Given the description of an element on the screen output the (x, y) to click on. 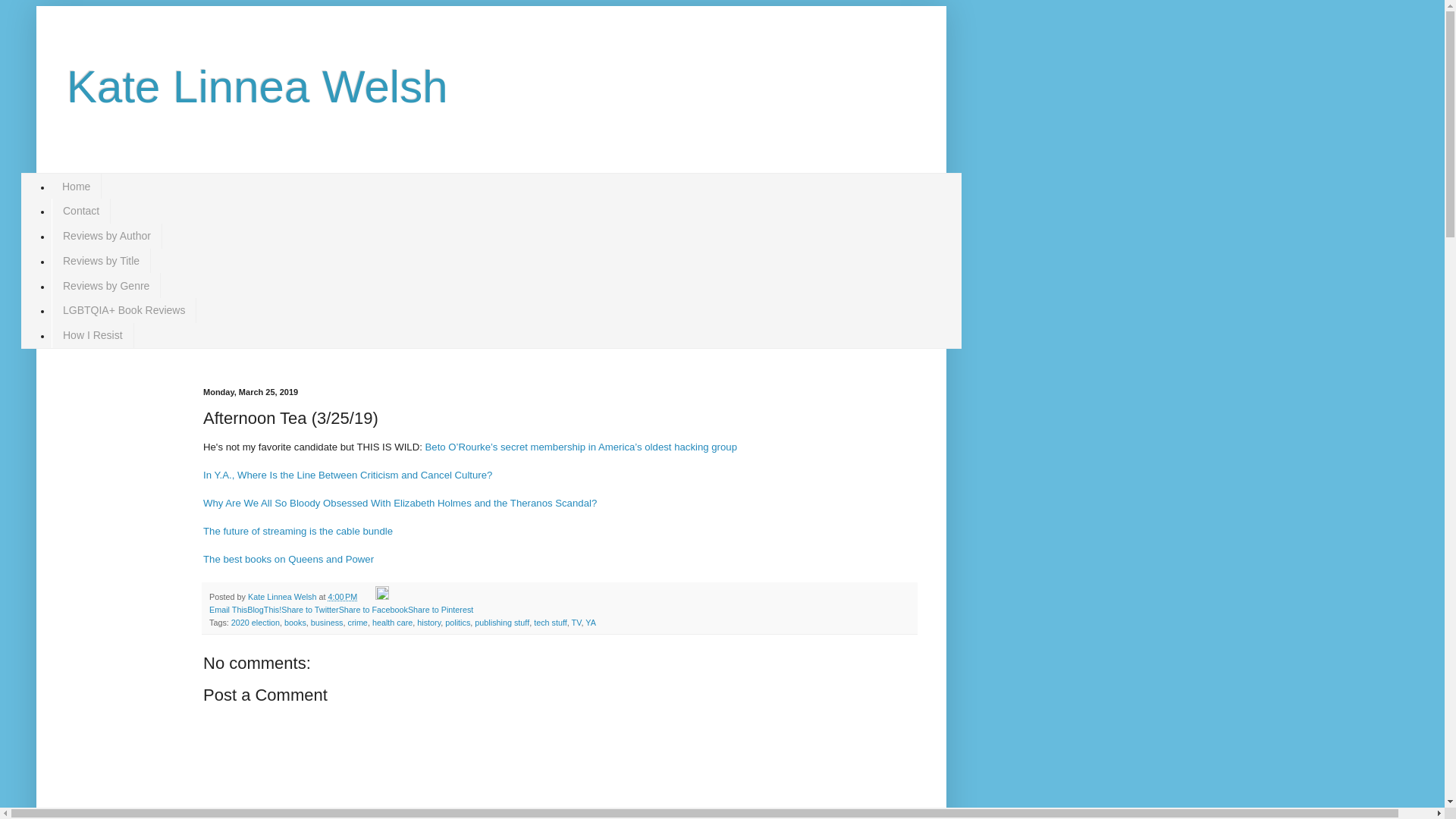
crime (356, 622)
How I Resist (91, 335)
books (294, 622)
Reviews by Genre (105, 285)
politics (457, 622)
Email This (228, 609)
Share to Pinterest (440, 609)
publishing stuff (501, 622)
YA (590, 622)
Share to Facebook (373, 609)
author profile (282, 596)
Reviews by Title (100, 260)
The best books on Queens and Power (288, 559)
Email Post (367, 596)
